Given the description of an element on the screen output the (x, y) to click on. 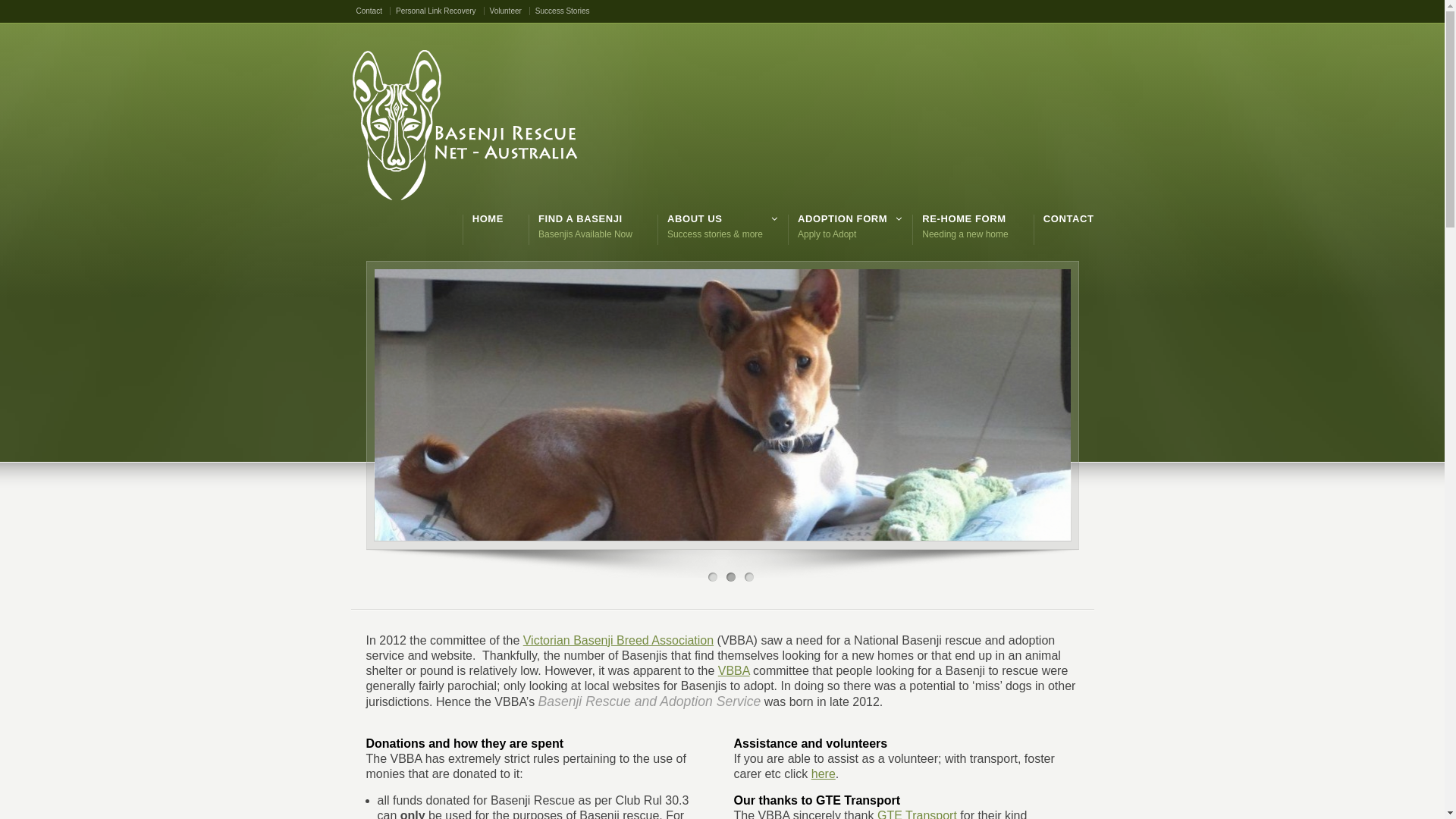
ABOUT US
Success stories & more Element type: text (714, 225)
HOME Element type: text (487, 218)
RE-HOME FORM
Needing a new home Element type: text (964, 225)
Personal Link Recovery Element type: text (439, 10)
CONTACT Element type: text (1068, 218)
VBBA Element type: text (733, 670)
ADOPTION FORM
Apply to Adopt Element type: text (842, 225)
2 Element type: text (730, 576)
3 Element type: text (748, 576)
1 Element type: text (712, 576)
Volunteer Element type: text (509, 10)
here Element type: text (823, 773)
Success Stories Element type: text (562, 10)
Contact Element type: text (373, 10)
FIND A BASENJI
Basenjis Available Now Element type: text (585, 225)
Victorian Basenji Breed Association Element type: text (618, 639)
